Given the description of an element on the screen output the (x, y) to click on. 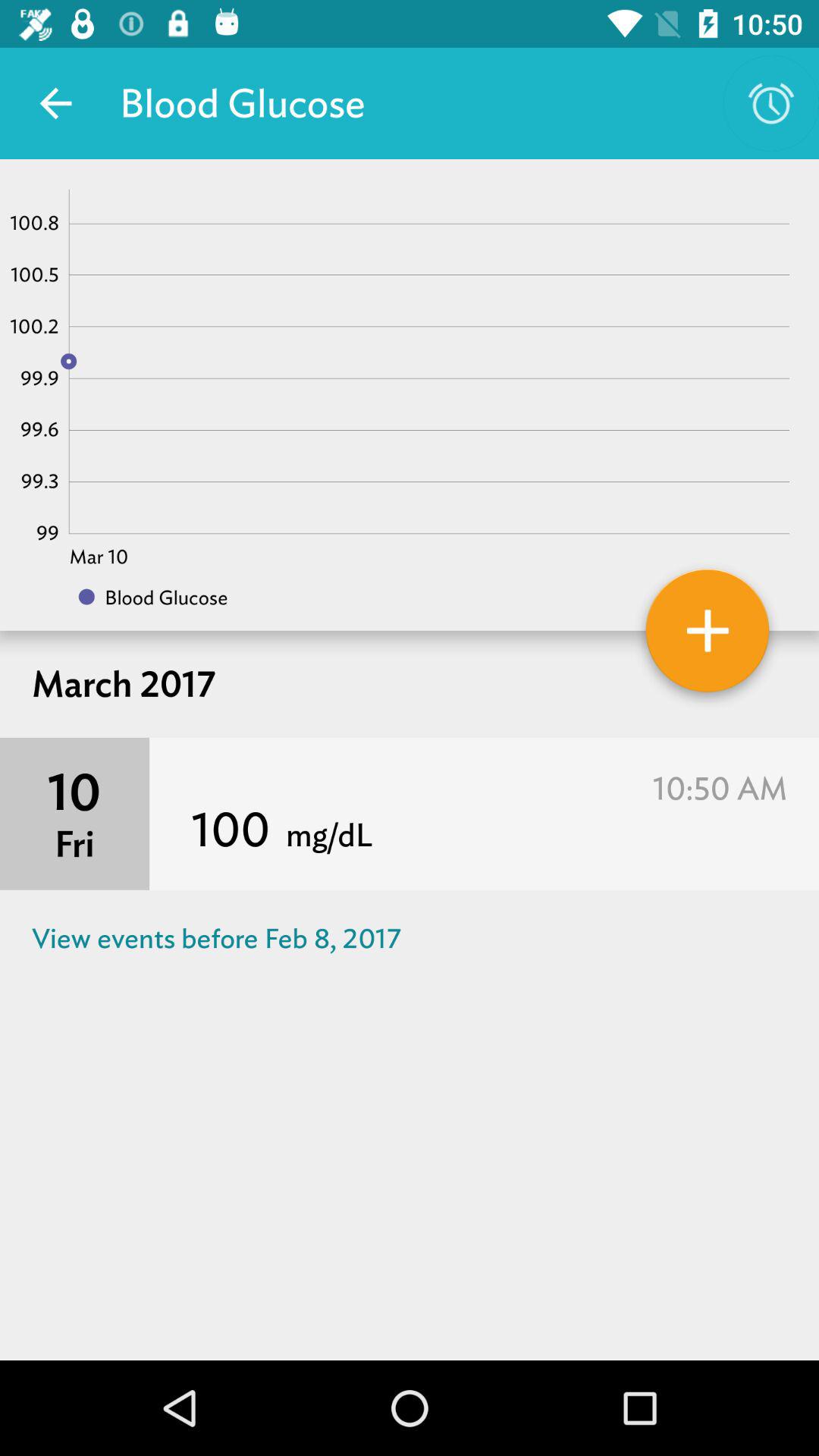
open the item to the left of blood glucose app (55, 103)
